Given the description of an element on the screen output the (x, y) to click on. 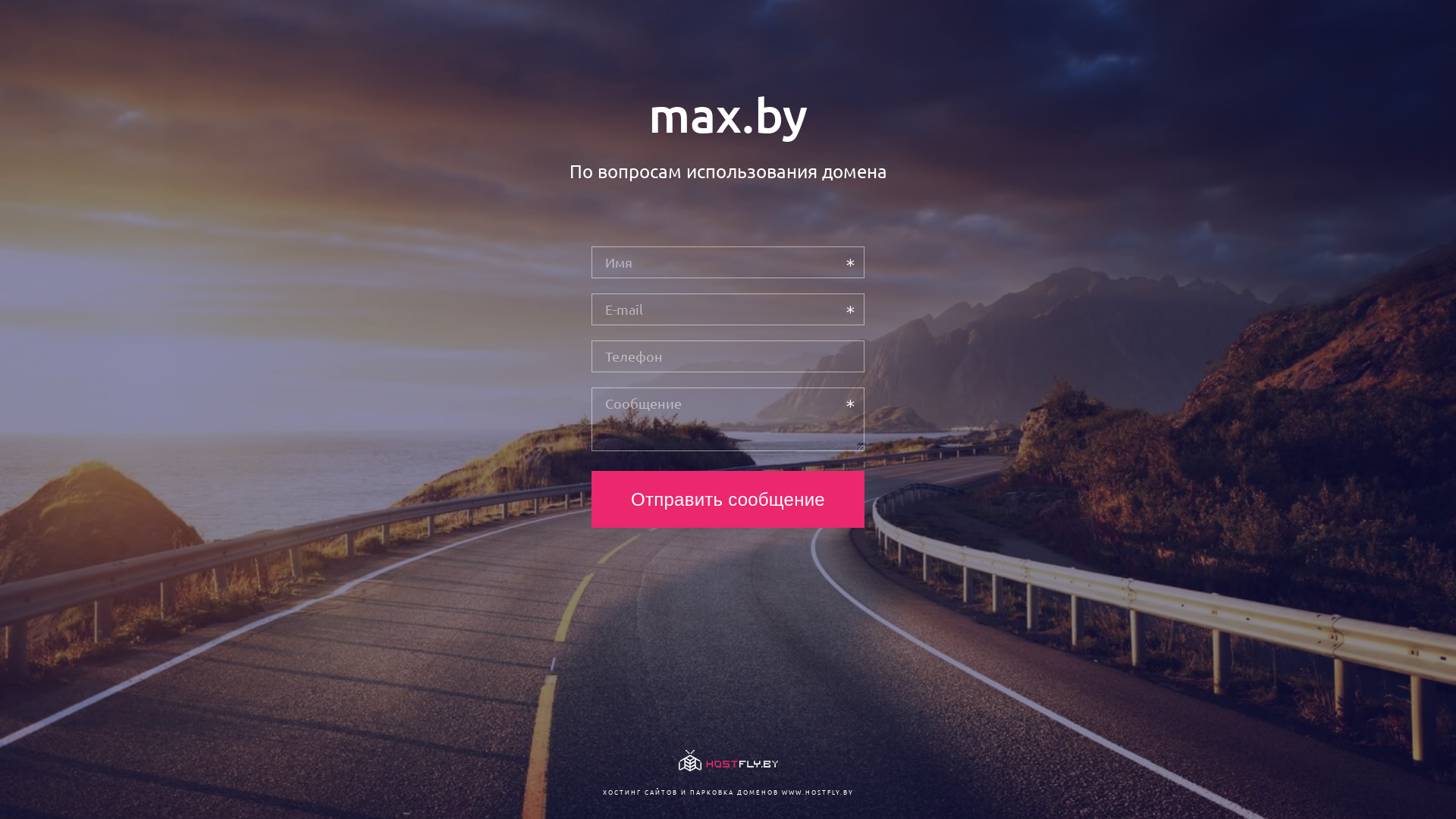
WWW.HOSTFLY.BY Element type: text (817, 791)
